Given the description of an element on the screen output the (x, y) to click on. 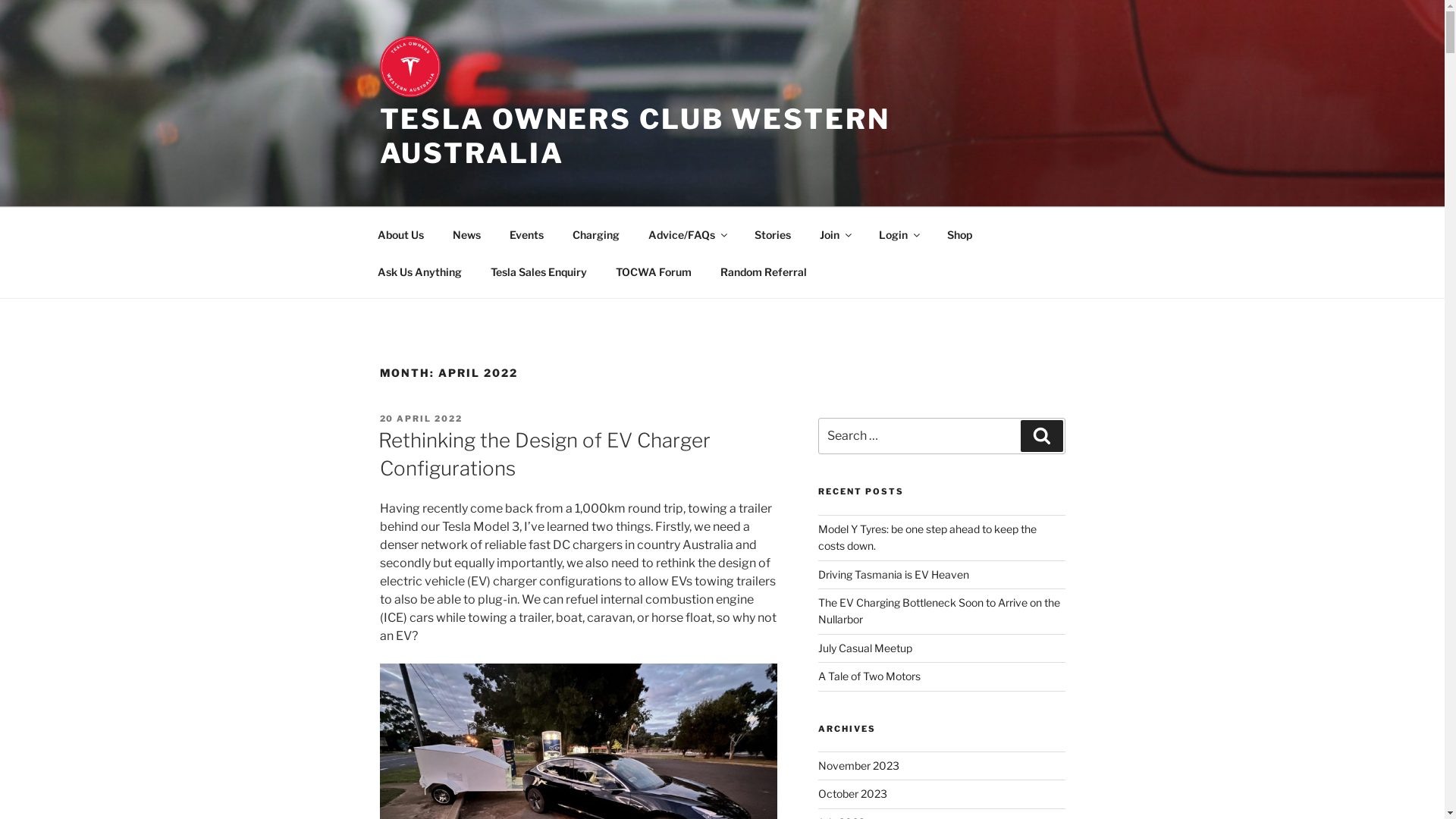
Search Element type: text (1041, 435)
TOCWA Forum Element type: text (653, 271)
Rethinking the Design of EV Charger Configurations Element type: text (543, 453)
July Casual Meetup Element type: text (865, 647)
Shop Element type: text (959, 233)
TESLA OWNERS CLUB WESTERN AUSTRALIA Element type: text (634, 135)
About Us Element type: text (400, 233)
The EV Charging Bottleneck Soon to Arrive on the Nullarbor Element type: text (939, 610)
Login Element type: text (898, 233)
20 APRIL 2022 Element type: text (420, 418)
Events Element type: text (525, 233)
Charging Element type: text (596, 233)
News Element type: text (466, 233)
Stories Element type: text (772, 233)
Driving Tasmania is EV Heaven Element type: text (893, 573)
October 2023 Element type: text (852, 793)
Advice/FAQs Element type: text (687, 233)
Tesla Sales Enquiry Element type: text (538, 271)
Random Referral Element type: text (762, 271)
Model Y Tyres: be one step ahead to keep the costs down. Element type: text (927, 537)
A Tale of Two Motors Element type: text (869, 675)
November 2023 Element type: text (858, 765)
Join Element type: text (834, 233)
Ask Us Anything Element type: text (419, 271)
